Given the description of an element on the screen output the (x, y) to click on. 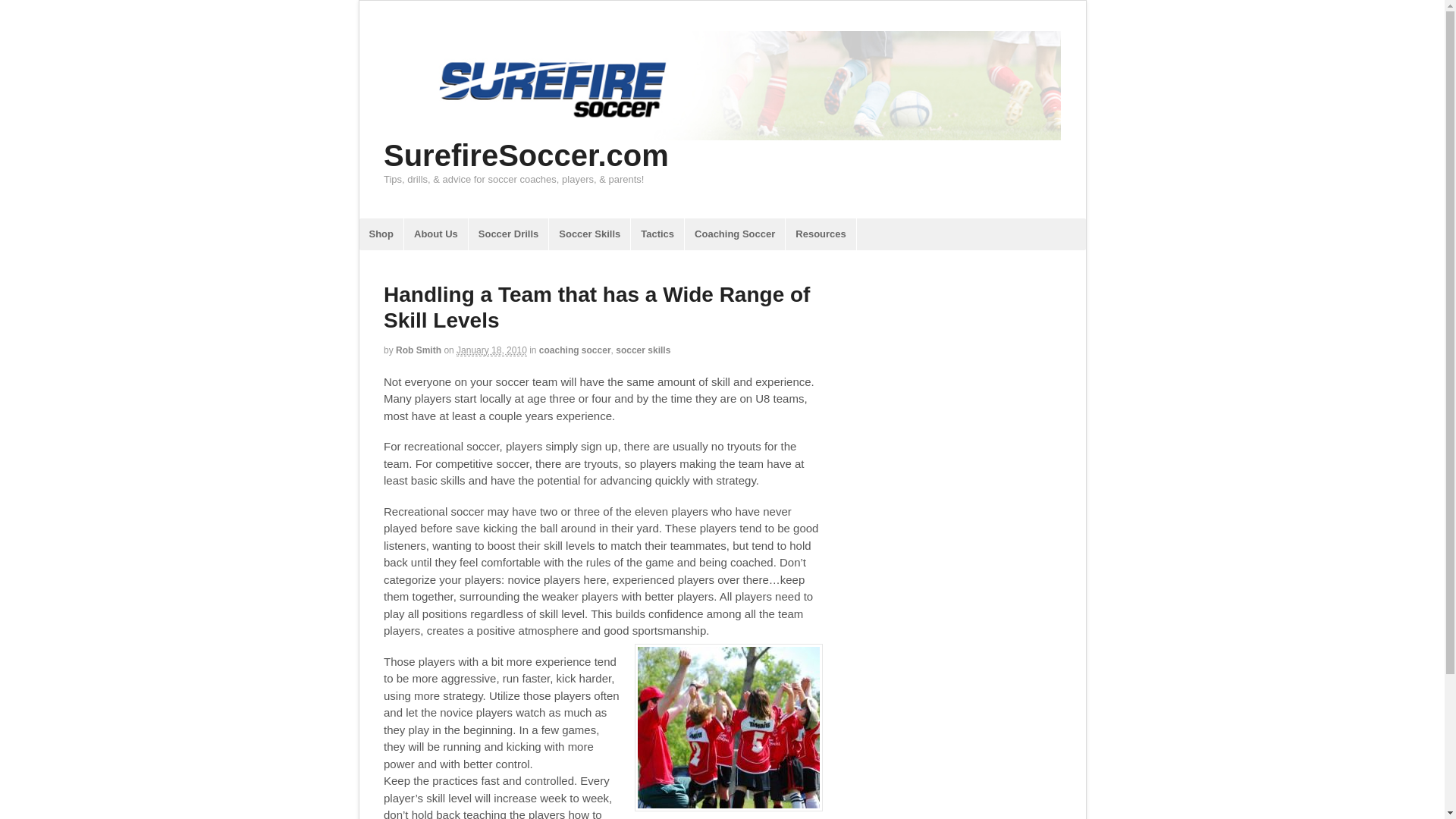
SurefireSoccer.com (526, 154)
Shop (381, 234)
Tactics (657, 234)
Soccer Drills (508, 234)
coaching soccer (574, 349)
soccer skills (642, 349)
Rob Smith (418, 349)
2010-01-18T11:43:38-0700 (492, 350)
Soccer Skills (589, 234)
About Us (435, 234)
Resources (821, 234)
cheer-109789-m (728, 727)
View all items in soccer skills (642, 349)
Coaching Soccer (734, 234)
Posts by Rob Smith (418, 349)
